Given the description of an element on the screen output the (x, y) to click on. 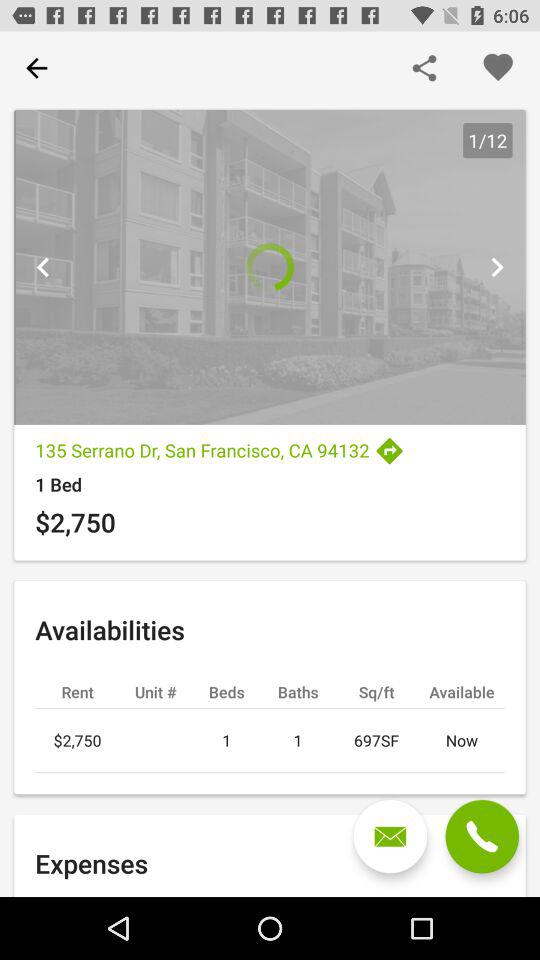
e-mail (389, 836)
